Given the description of an element on the screen output the (x, y) to click on. 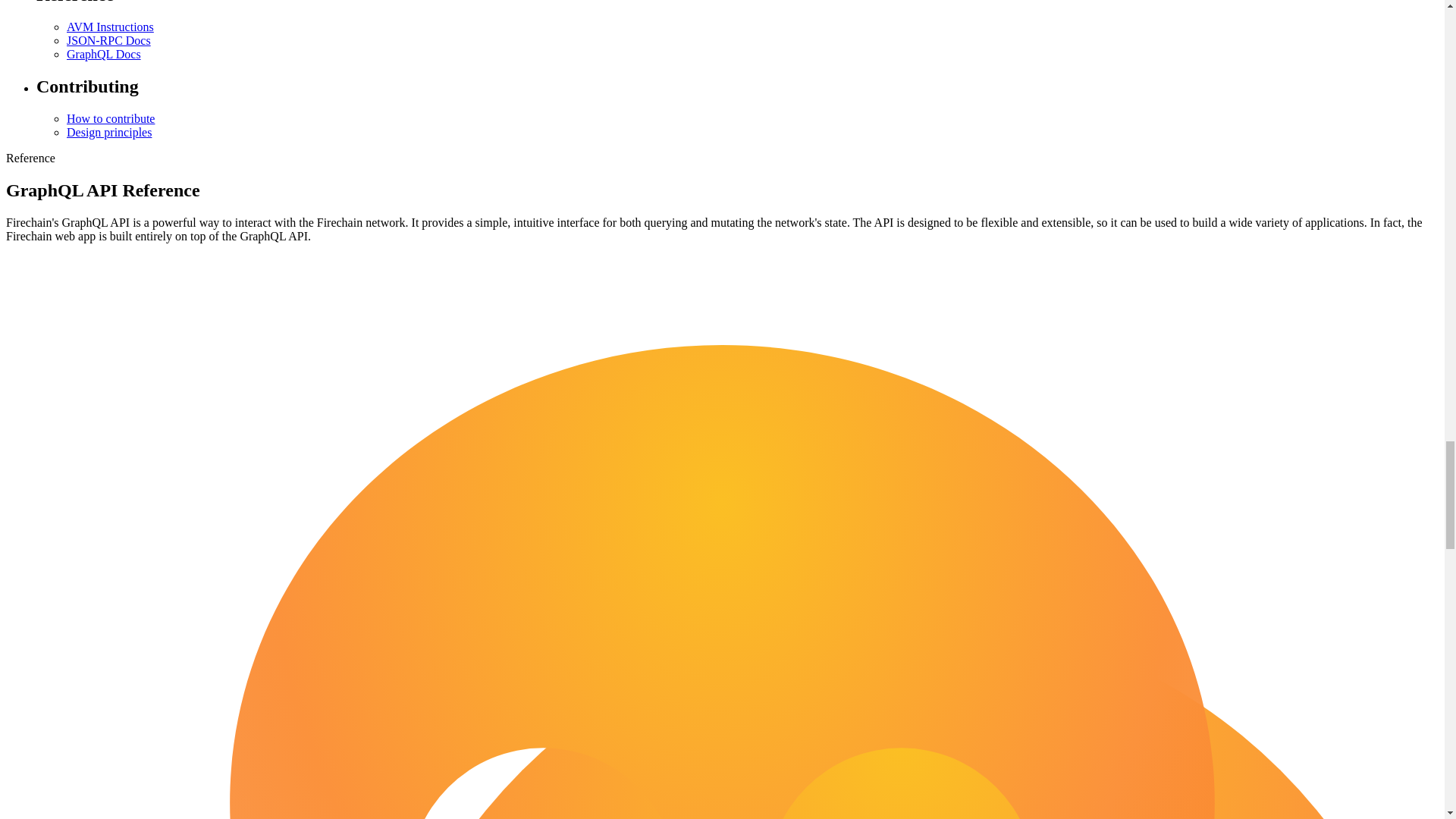
GraphQL Docs (103, 53)
Design principles (108, 132)
JSON-RPC Docs (108, 40)
How to contribute (110, 118)
AVM Instructions (110, 26)
